Given the description of an element on the screen output the (x, y) to click on. 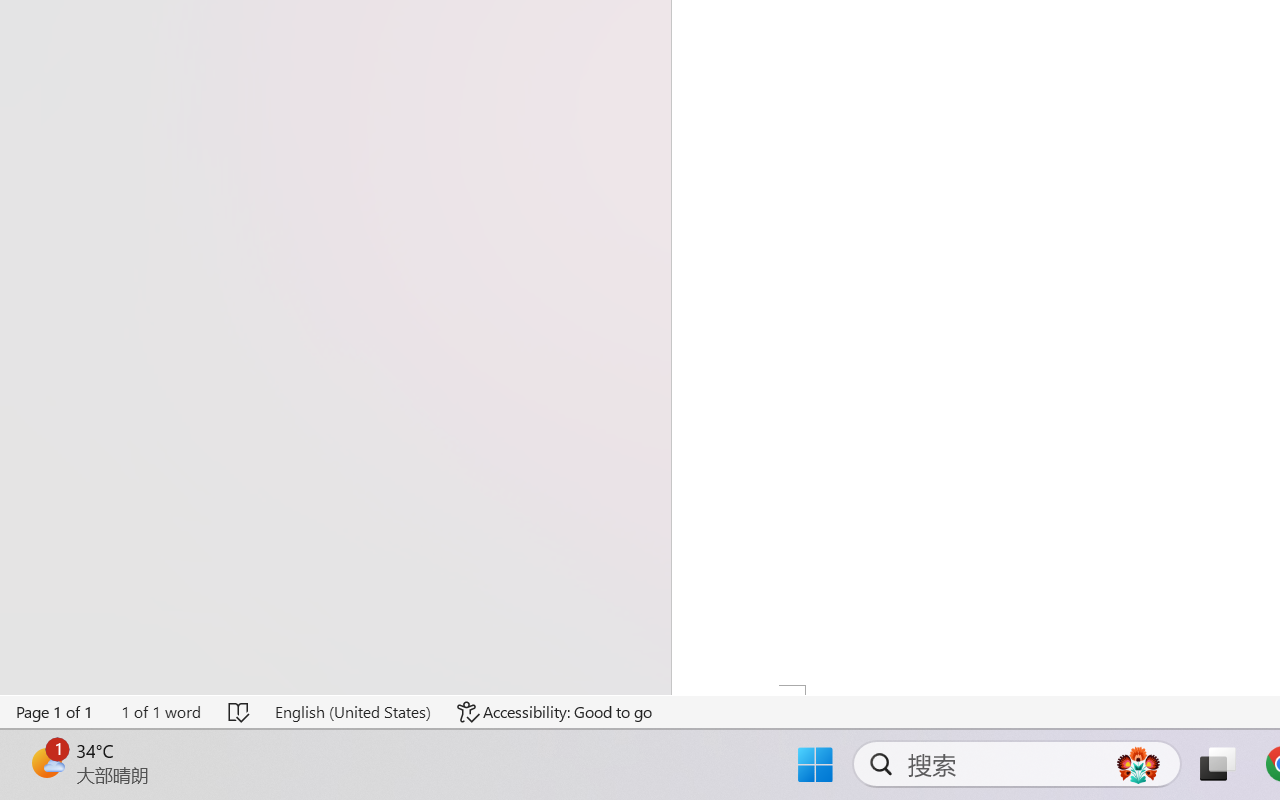
Page Number Page 1 of 1 (55, 712)
